Given the description of an element on the screen output the (x, y) to click on. 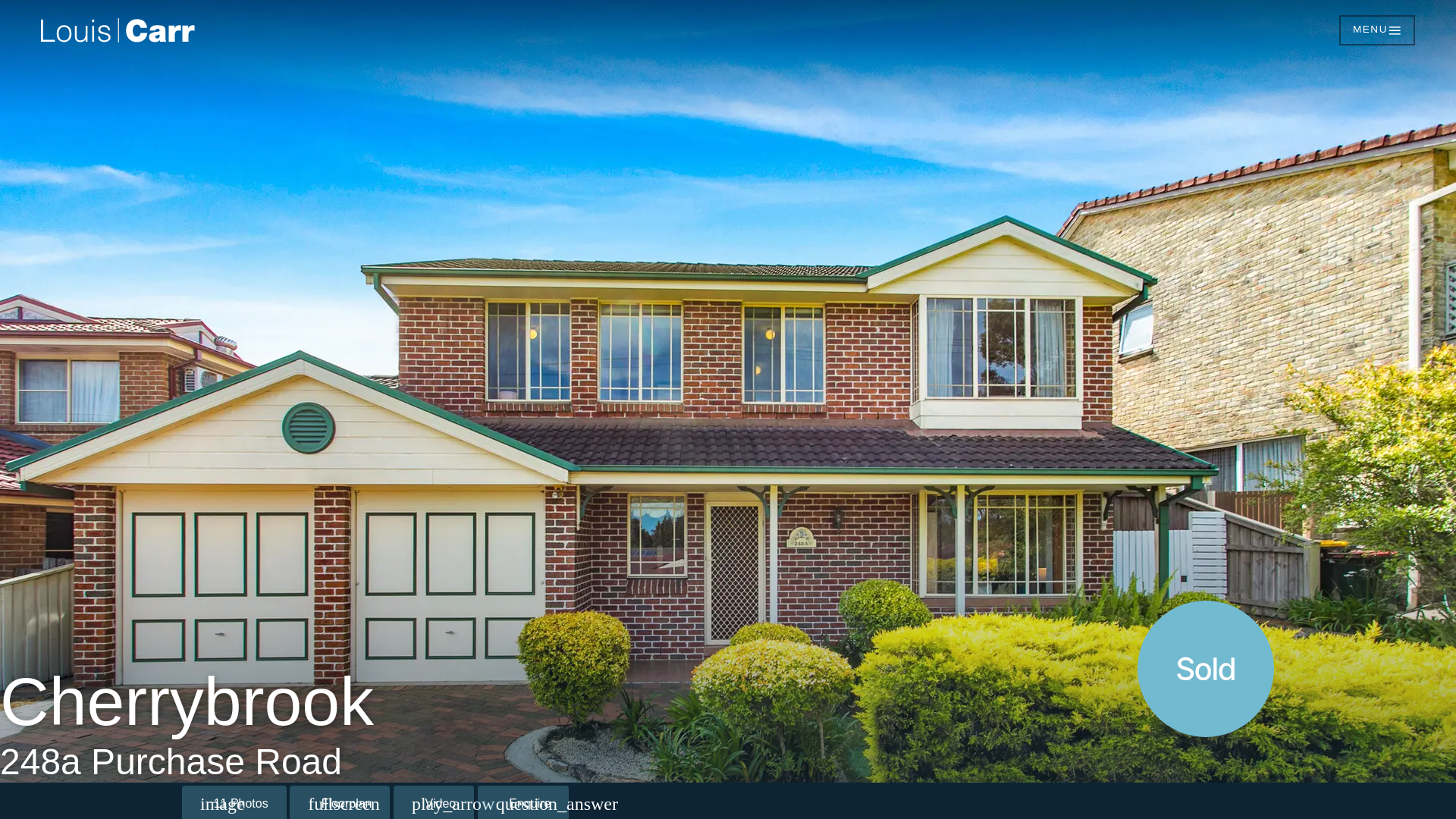
fullscreen Floorplan (339, 802)
image 11 Photos (234, 802)
Louis Carr Real Estate (498, 30)
